Given the description of an element on the screen output the (x, y) to click on. 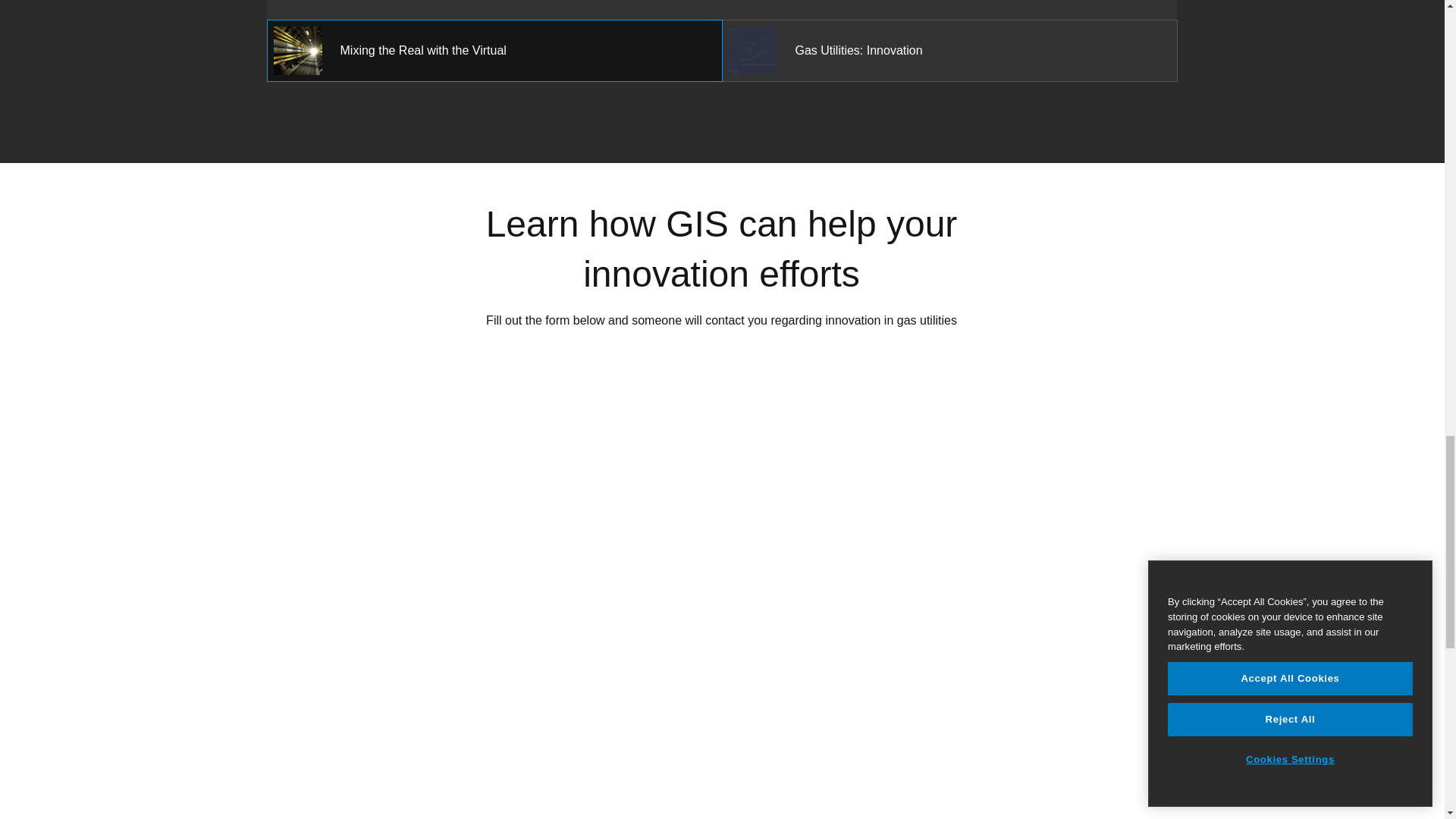
Gas Utilities: Innovation (949, 54)
Mixing the Real with the Virtual (493, 54)
